Given the description of an element on the screen output the (x, y) to click on. 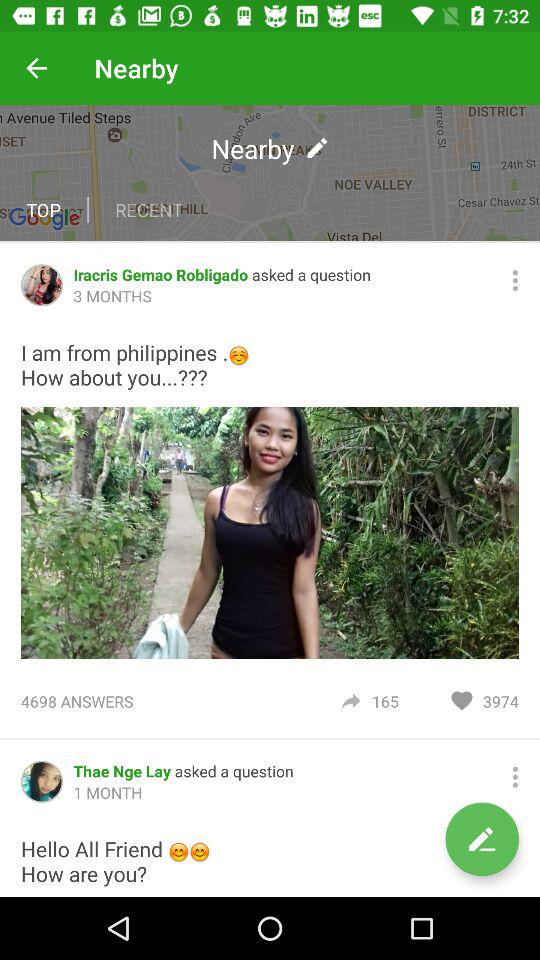
write a post (482, 839)
